Given the description of an element on the screen output the (x, y) to click on. 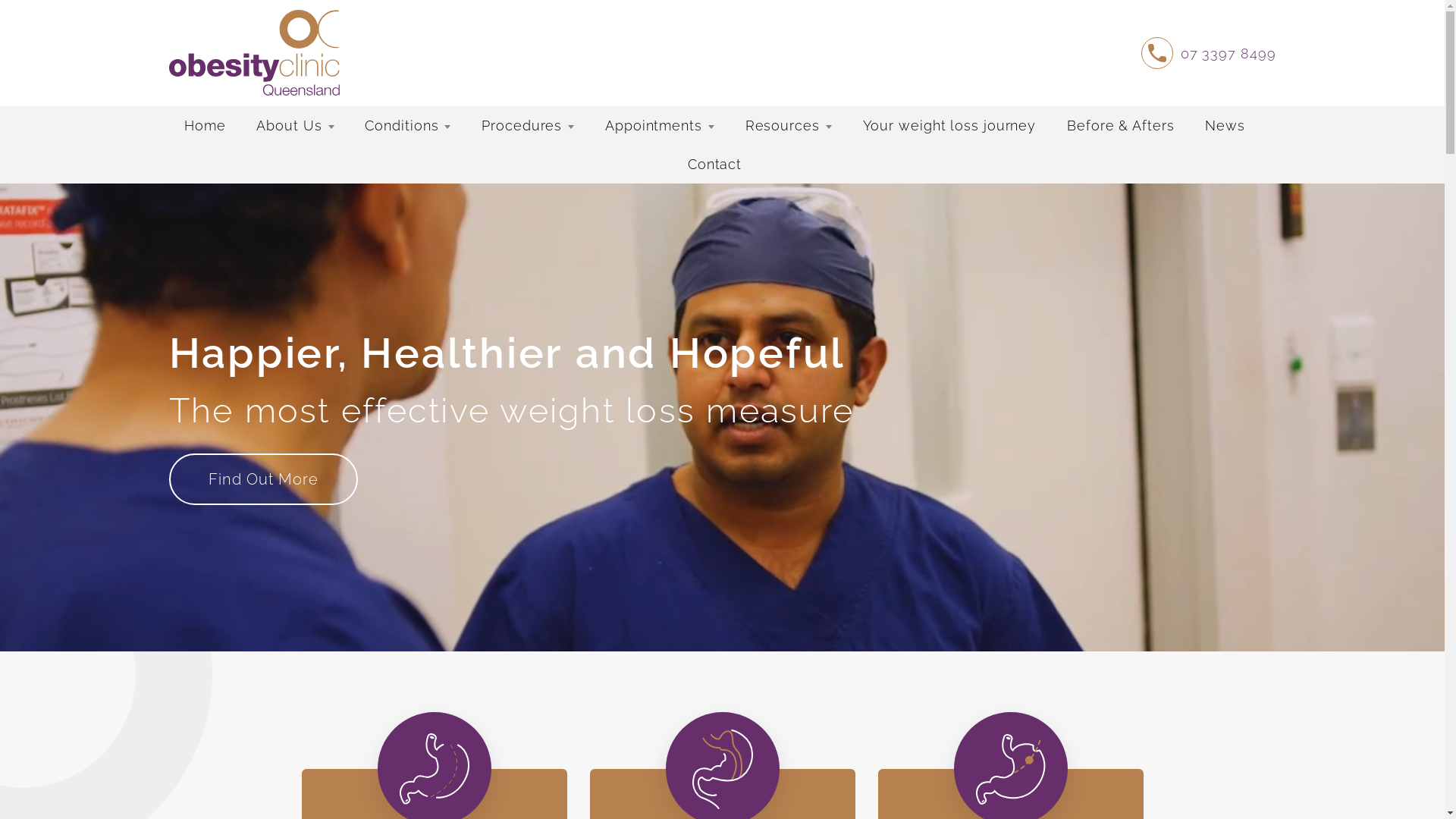
Find Out More Element type: text (262, 479)
Your weight loss journey Element type: text (949, 125)
Home Element type: text (205, 125)
Contact Element type: text (714, 163)
Procedures Element type: text (527, 125)
Conditions Element type: text (407, 125)
Appointments Element type: text (659, 125)
News Element type: text (1225, 125)
About Us Element type: text (295, 125)
07 3397 8499 Element type: text (1208, 52)
Before & Afters Element type: text (1120, 125)
Resources Element type: text (788, 125)
